Given the description of an element on the screen output the (x, y) to click on. 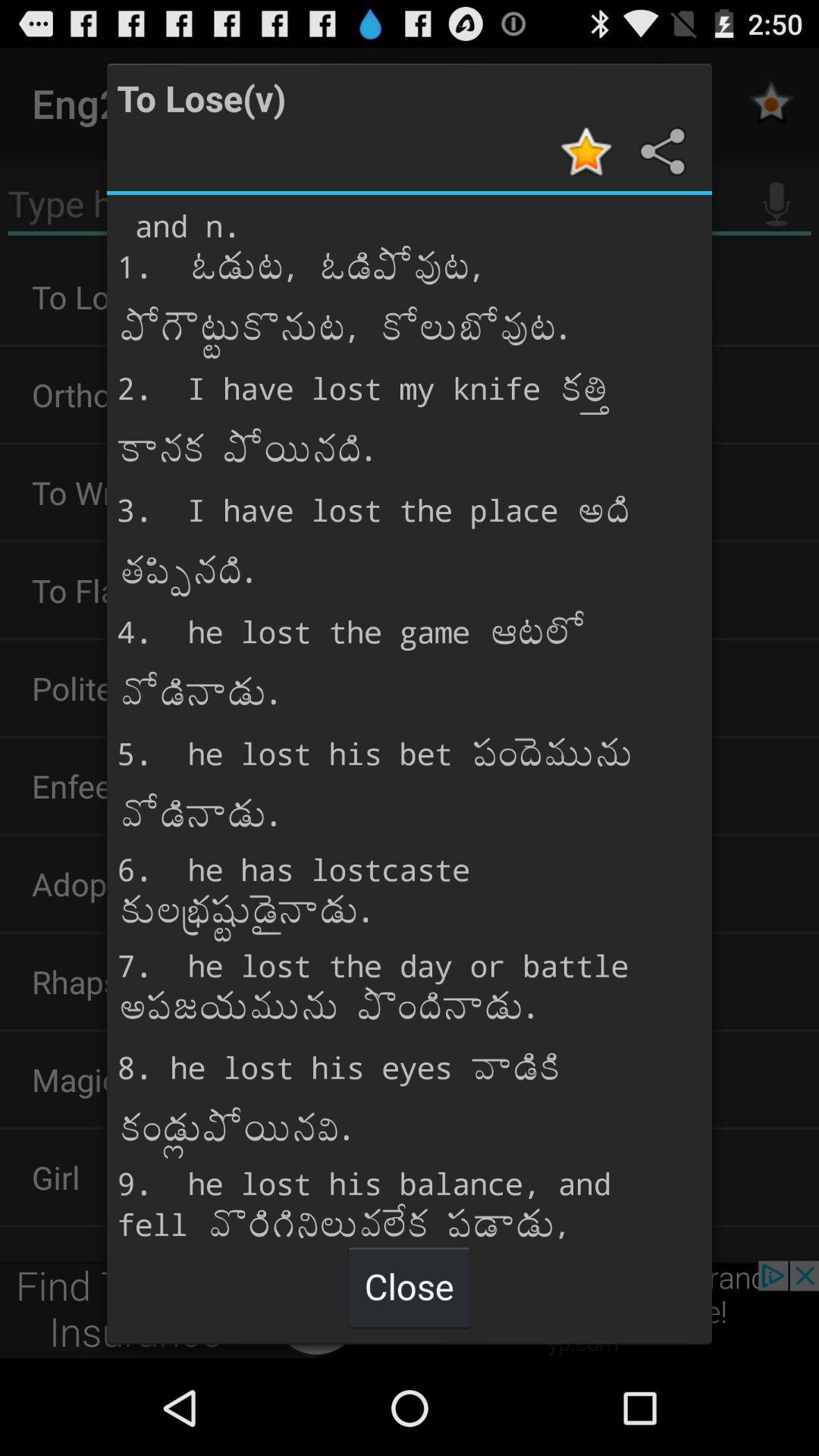
open share menu (660, 151)
